Given the description of an element on the screen output the (x, y) to click on. 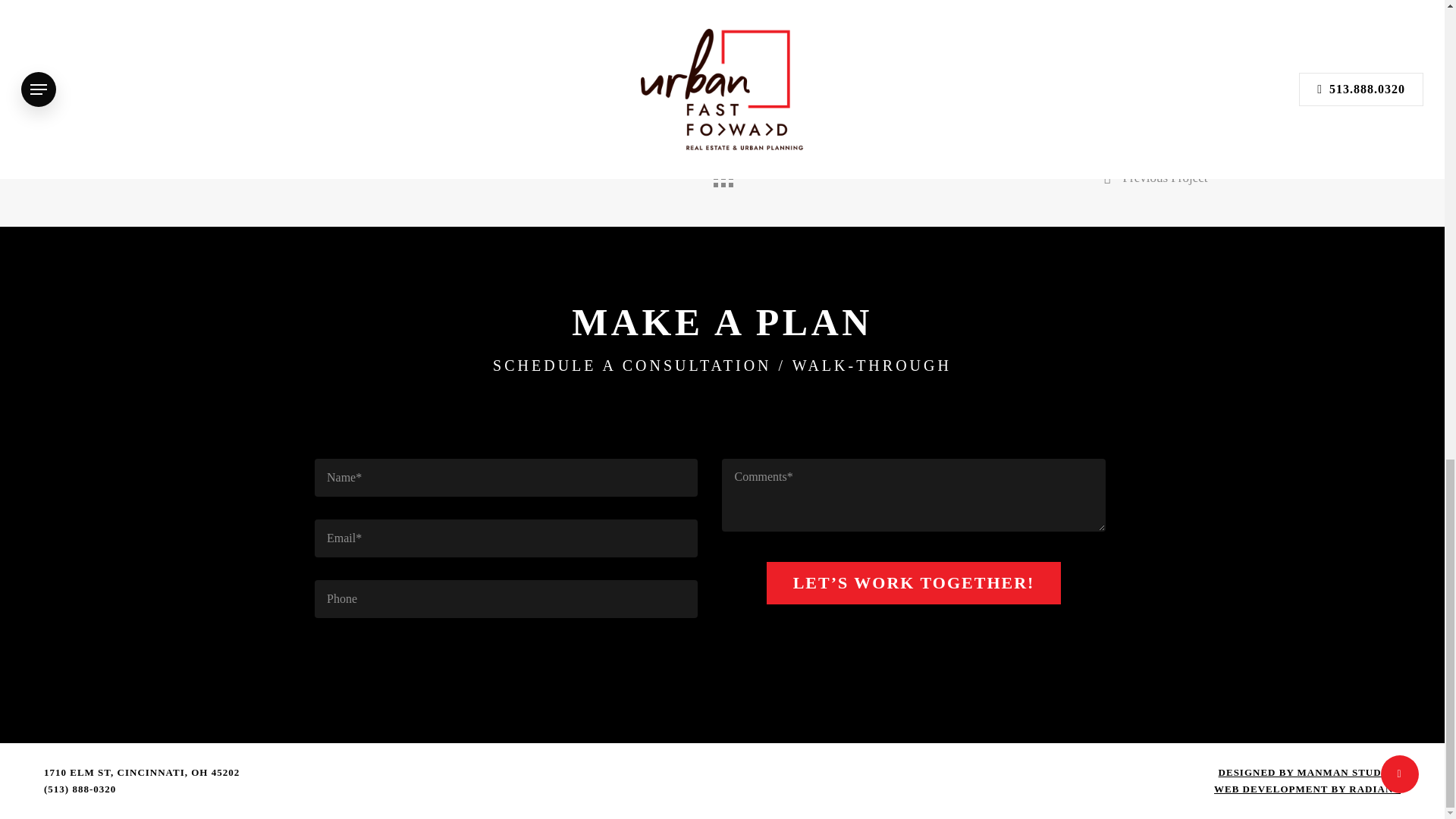
WEB DEVELOPMENT BY RADIANT (1307, 788)
Back to all projects (721, 173)
Previous Project (1155, 178)
DESIGNED BY MANMAN STUDIOS (1309, 772)
